Given the description of an element on the screen output the (x, y) to click on. 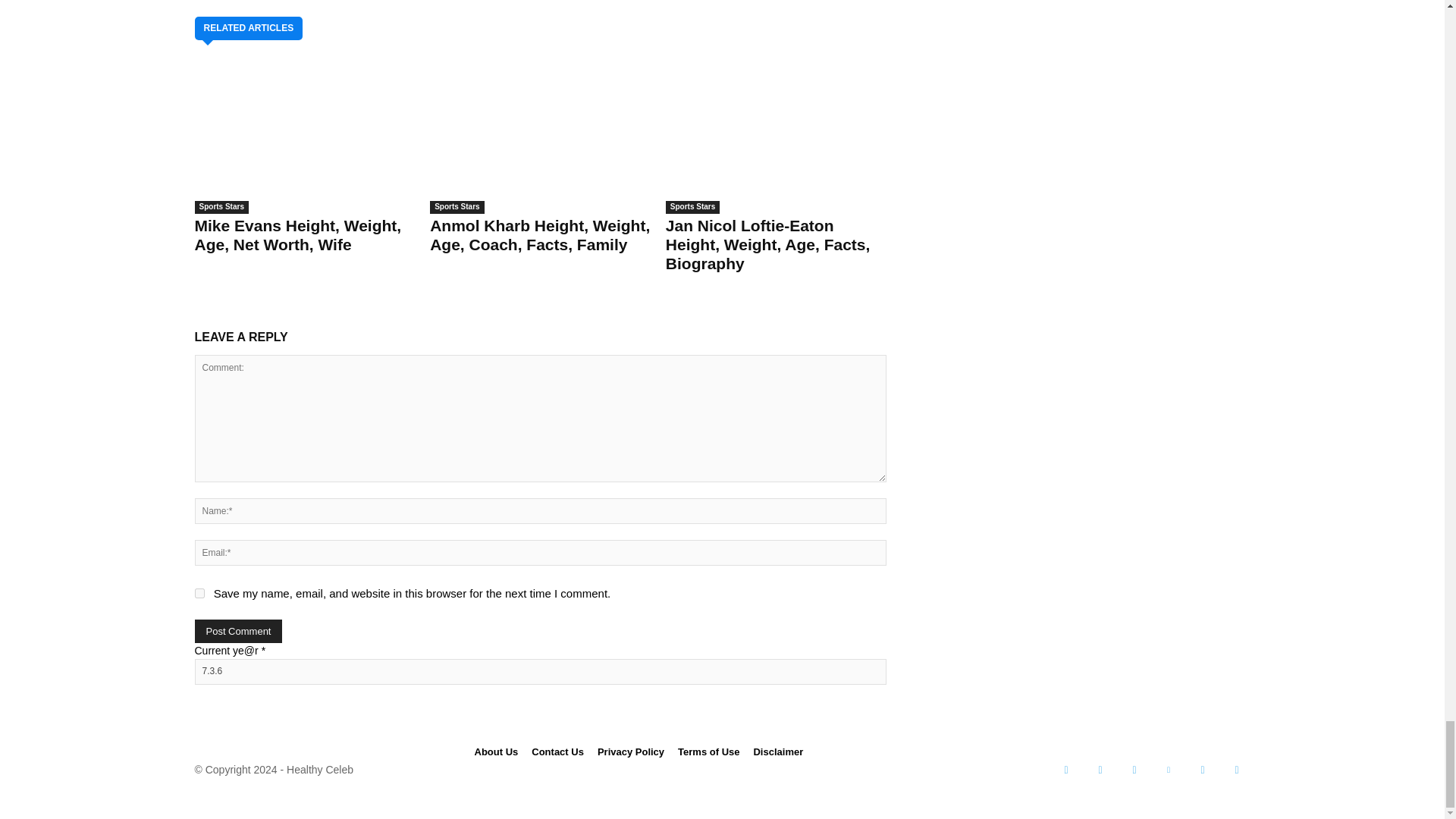
7.3.6 (539, 671)
yes (198, 593)
Post Comment (237, 630)
